Given the description of an element on the screen output the (x, y) to click on. 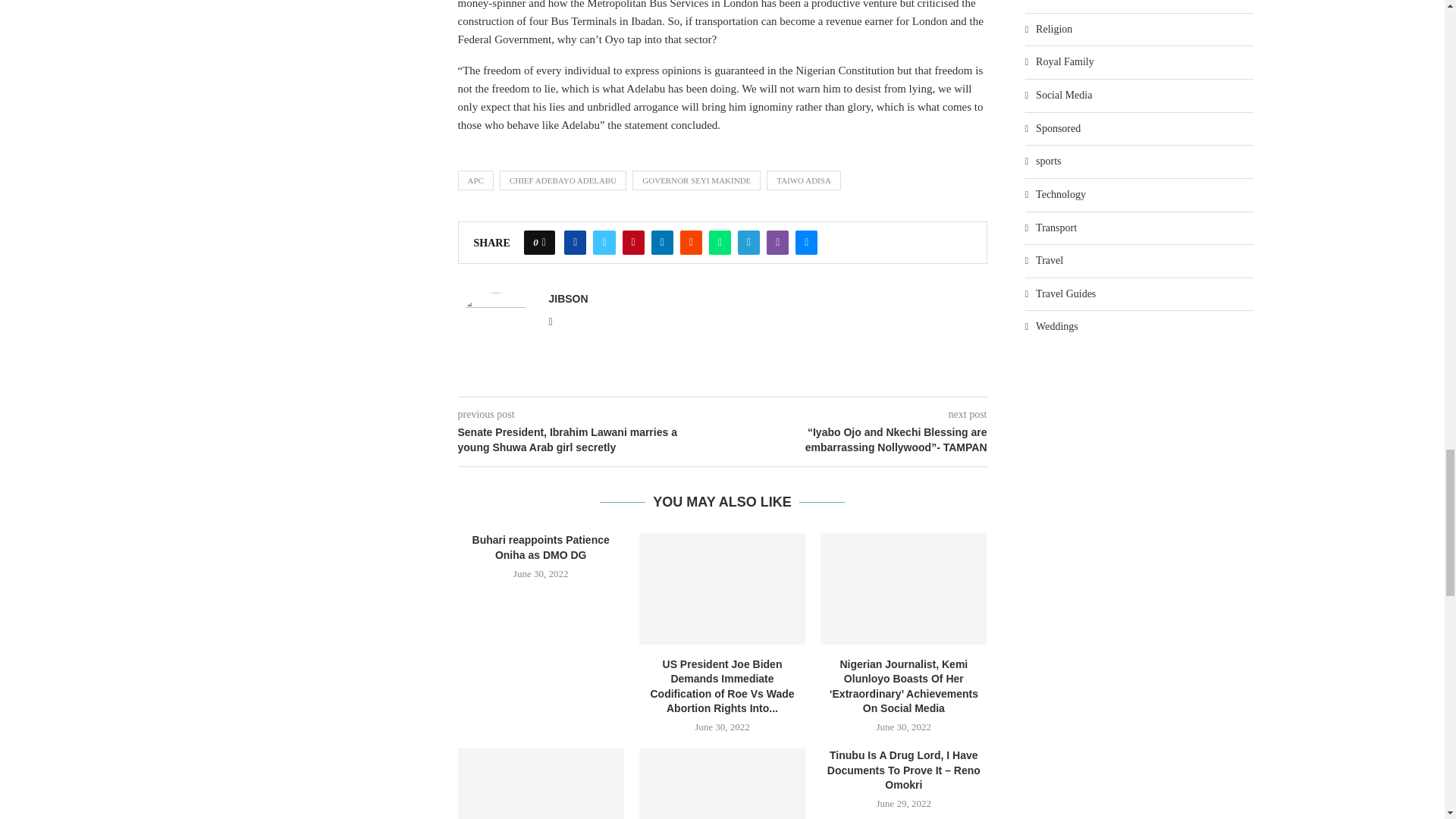
Author Jibson (568, 298)
